Given the description of an element on the screen output the (x, y) to click on. 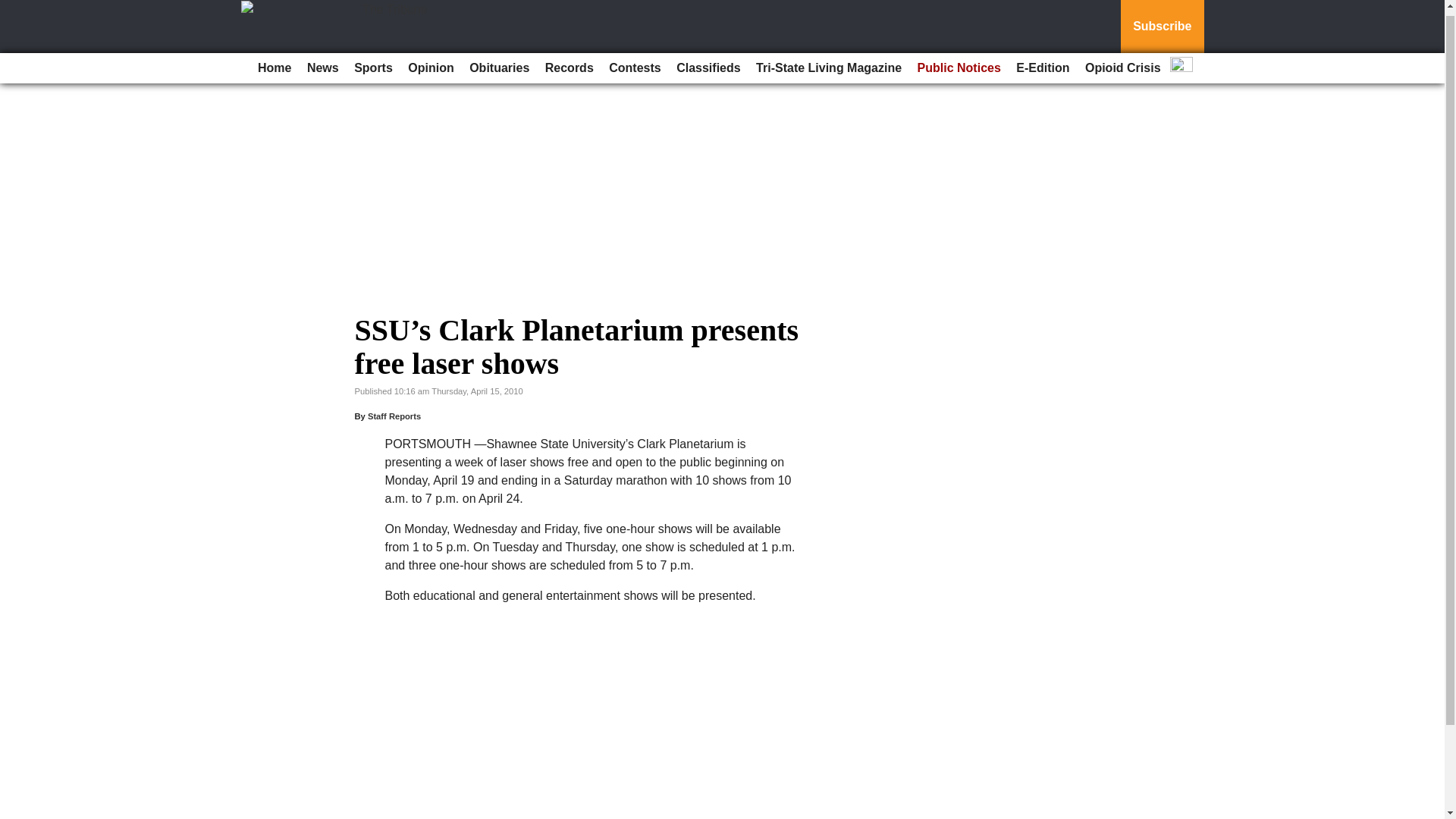
Contests (634, 62)
Tri-State Living Magazine (828, 62)
Go (13, 6)
Public Notices (959, 62)
Opinion (430, 62)
News (323, 62)
Opioid Crisis (1122, 62)
Staff Reports (394, 415)
Sports (372, 62)
Obituaries (499, 62)
